Given the description of an element on the screen output the (x, y) to click on. 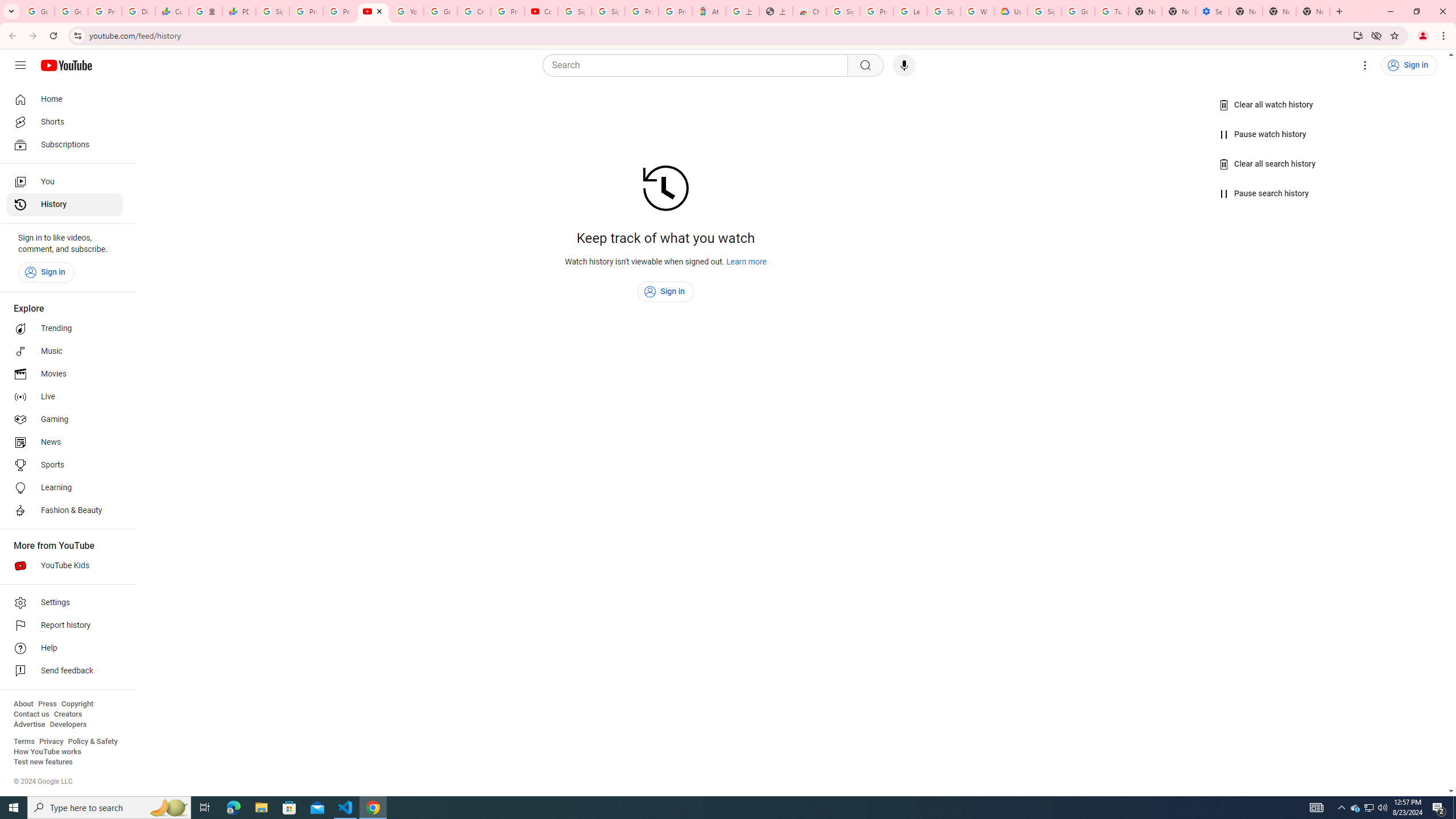
Install YouTube (1358, 35)
Fashion & Beauty (64, 510)
Terms (23, 741)
YouTube Kids (64, 565)
Third-party cookies blocked (1376, 35)
Test new features (42, 761)
